Given the description of an element on the screen output the (x, y) to click on. 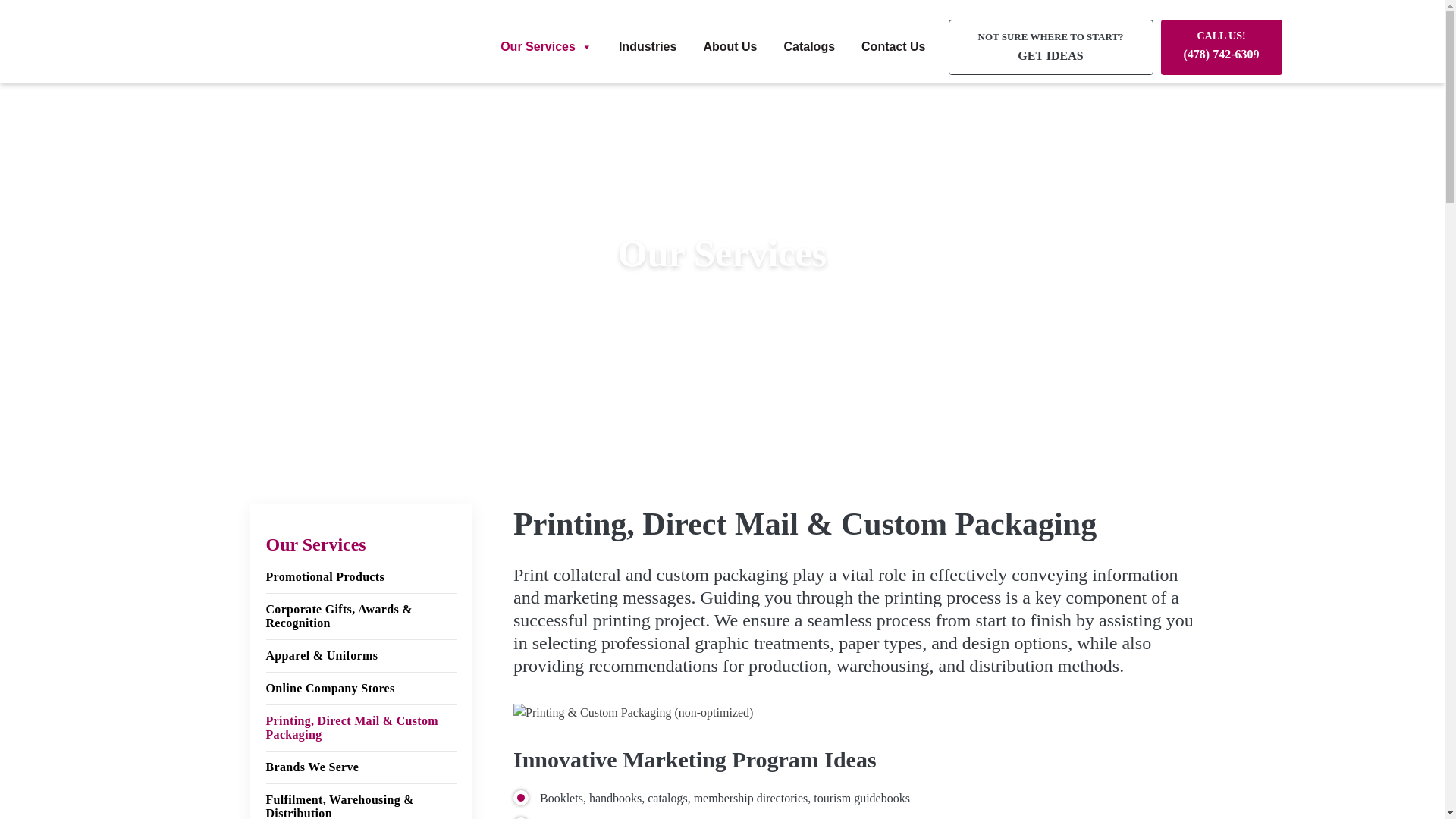
Promotional Products (360, 577)
Our Services (545, 47)
Online Company Stores (1051, 47)
About Us (360, 688)
Contact Us (729, 47)
Submit (892, 47)
Industries (716, 340)
Brands We Serve (646, 47)
